Given the description of an element on the screen output the (x, y) to click on. 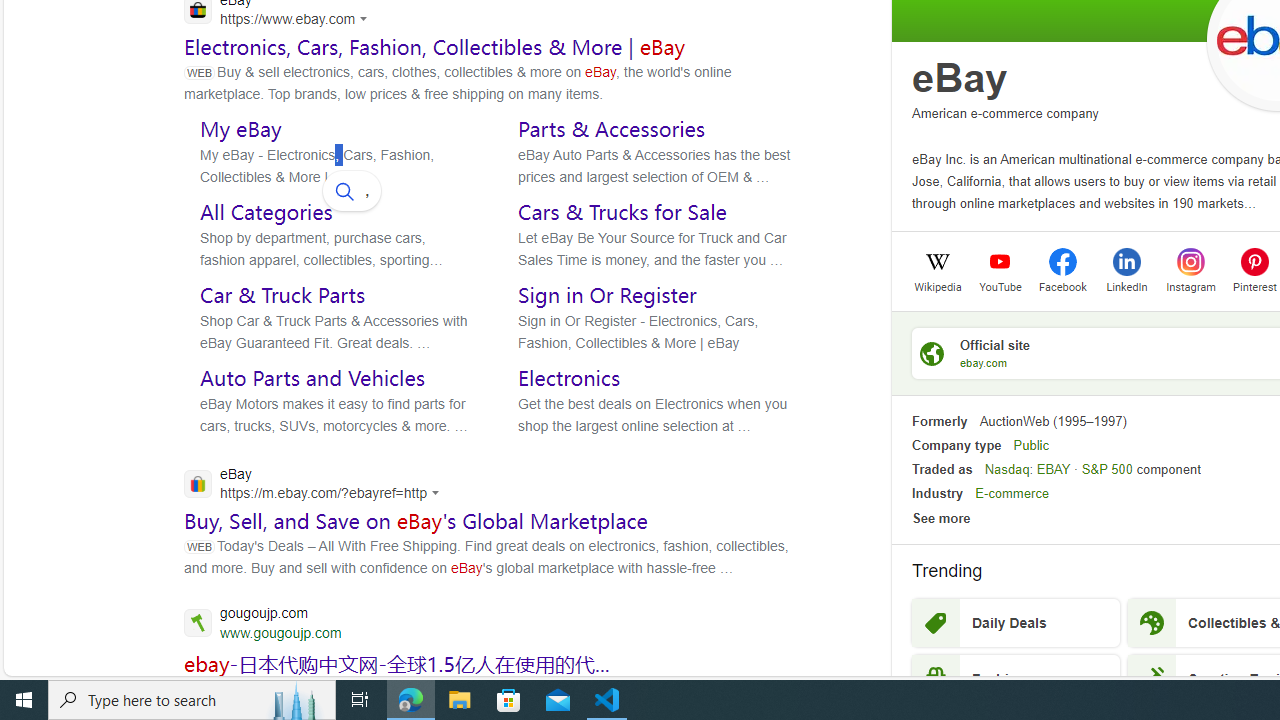
Public (1030, 444)
SERP,5721 (397, 663)
YouTube (1000, 285)
Class: sp-ofsite (932, 353)
Actions for this site (438, 493)
EBAY (1053, 469)
E-commerce (1012, 493)
My eBay (240, 128)
Electronics, Cars, Fashion, Collectibles & More | eBay (435, 46)
Global web icon (197, 483)
Instagram (1190, 285)
Car & Truck Parts (282, 295)
